Given the description of an element on the screen output the (x, y) to click on. 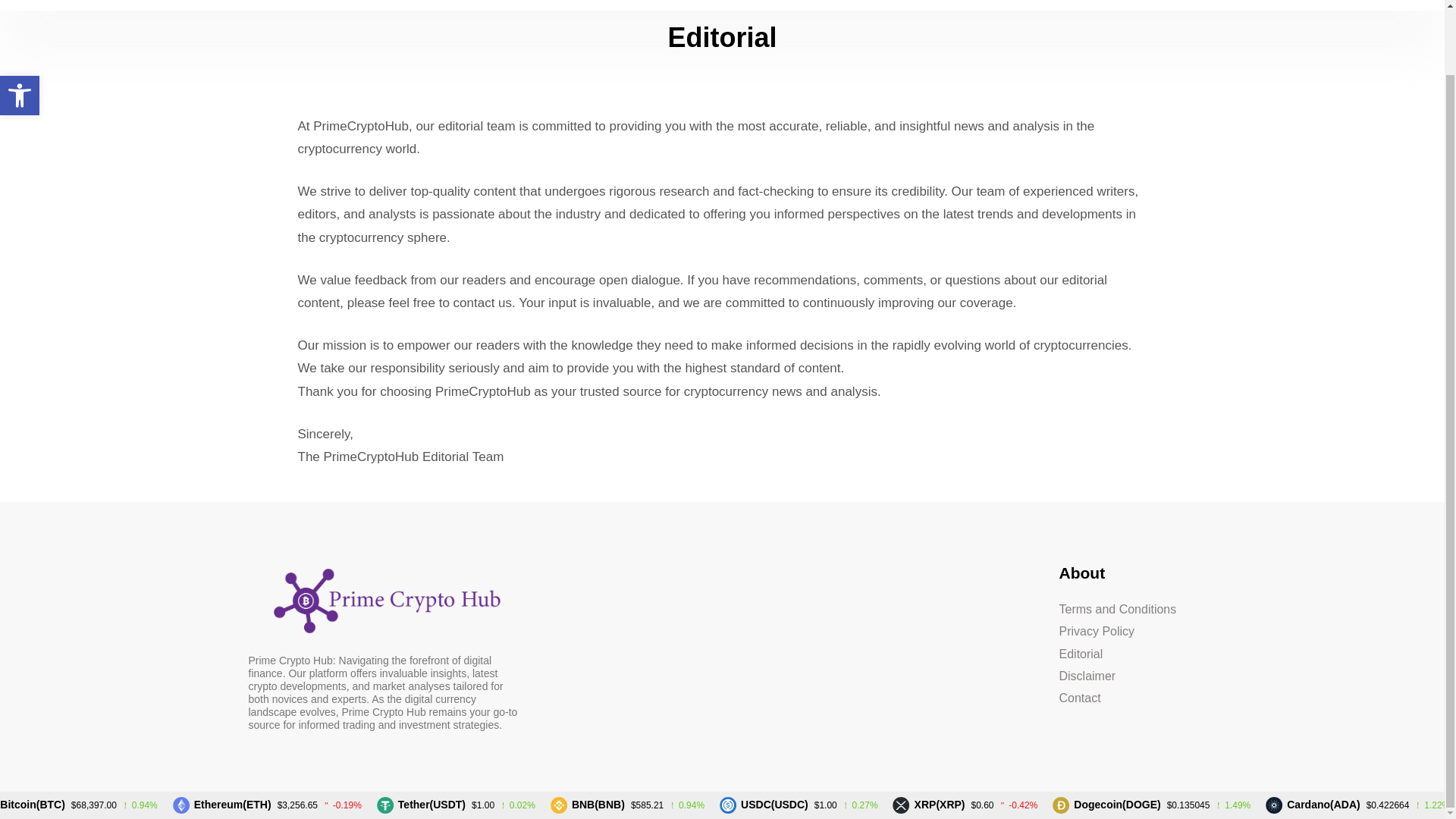
Disclaimer (1126, 676)
Contact (1126, 698)
Accessibility Tools (19, 24)
Privacy Policy (1126, 631)
Terms and Conditions (19, 24)
Editorial (1126, 608)
Accessibility Tools (1126, 653)
